Given the description of an element on the screen output the (x, y) to click on. 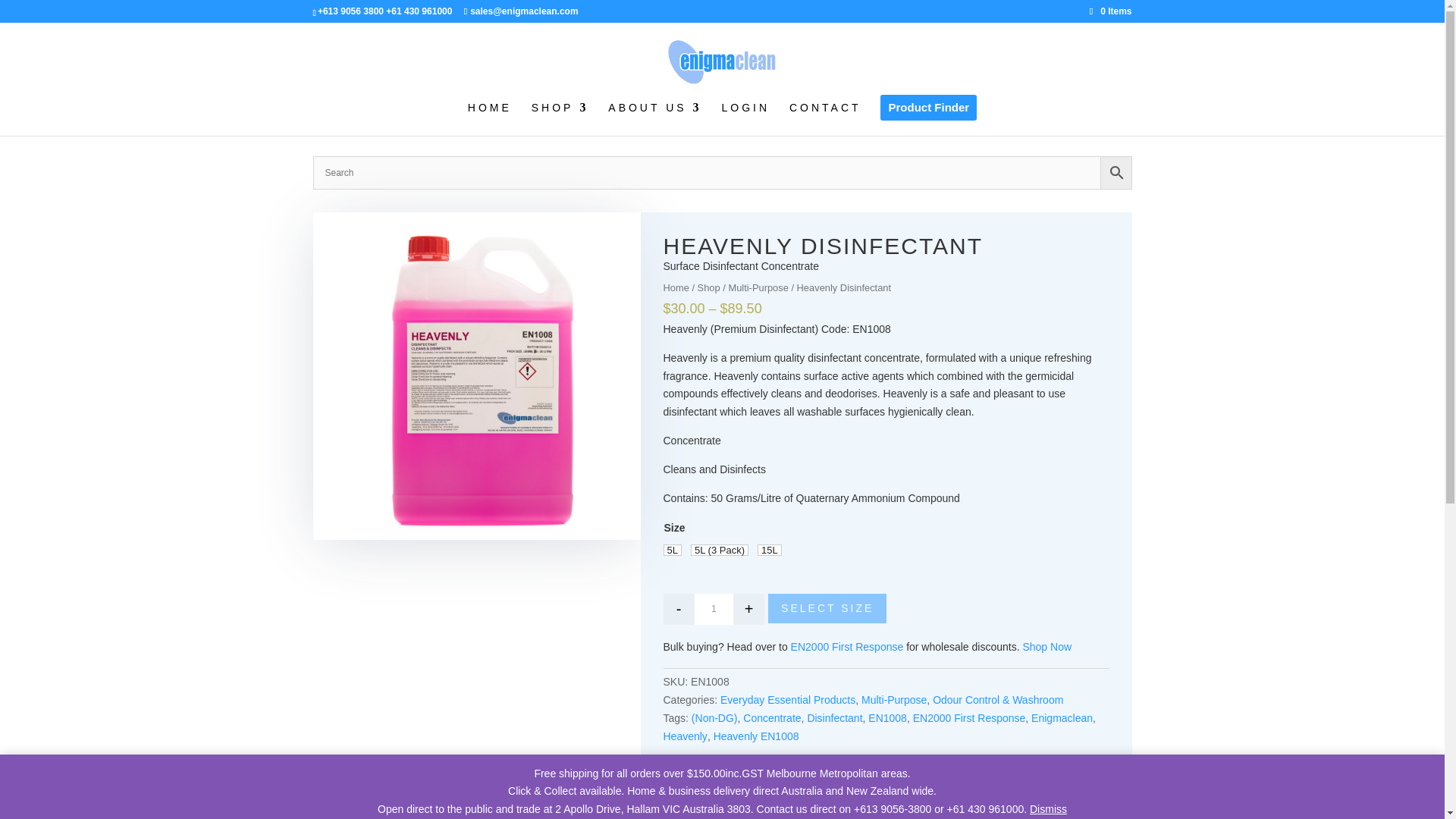
1 (713, 608)
ABOUT US (654, 118)
SHOP (560, 118)
LOGIN (746, 118)
HOME (489, 118)
Heavenly (476, 375)
CONTACT (825, 118)
0 Items (1110, 10)
Qty (713, 608)
Product Finder (928, 115)
